Given the description of an element on the screen output the (x, y) to click on. 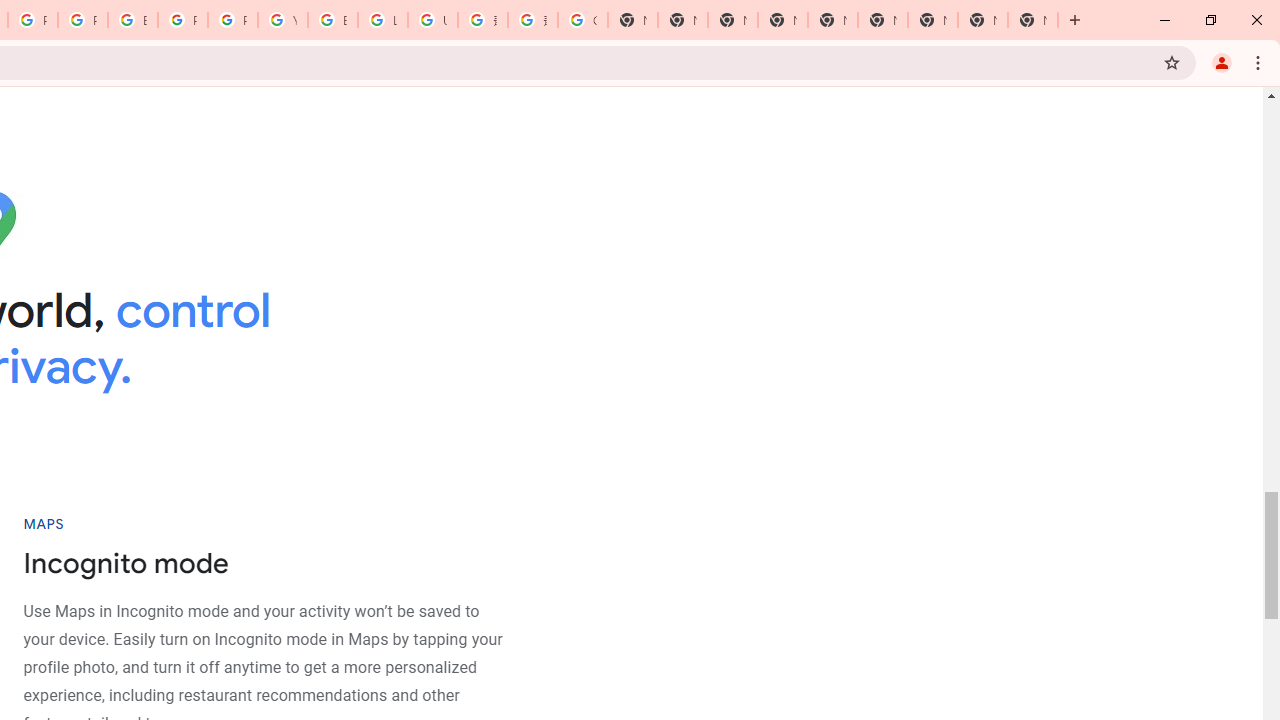
New Tab (782, 20)
Privacy Help Center - Policies Help (82, 20)
Google Images (582, 20)
Browse Chrome as a guest - Computer - Google Chrome Help (333, 20)
